Given the description of an element on the screen output the (x, y) to click on. 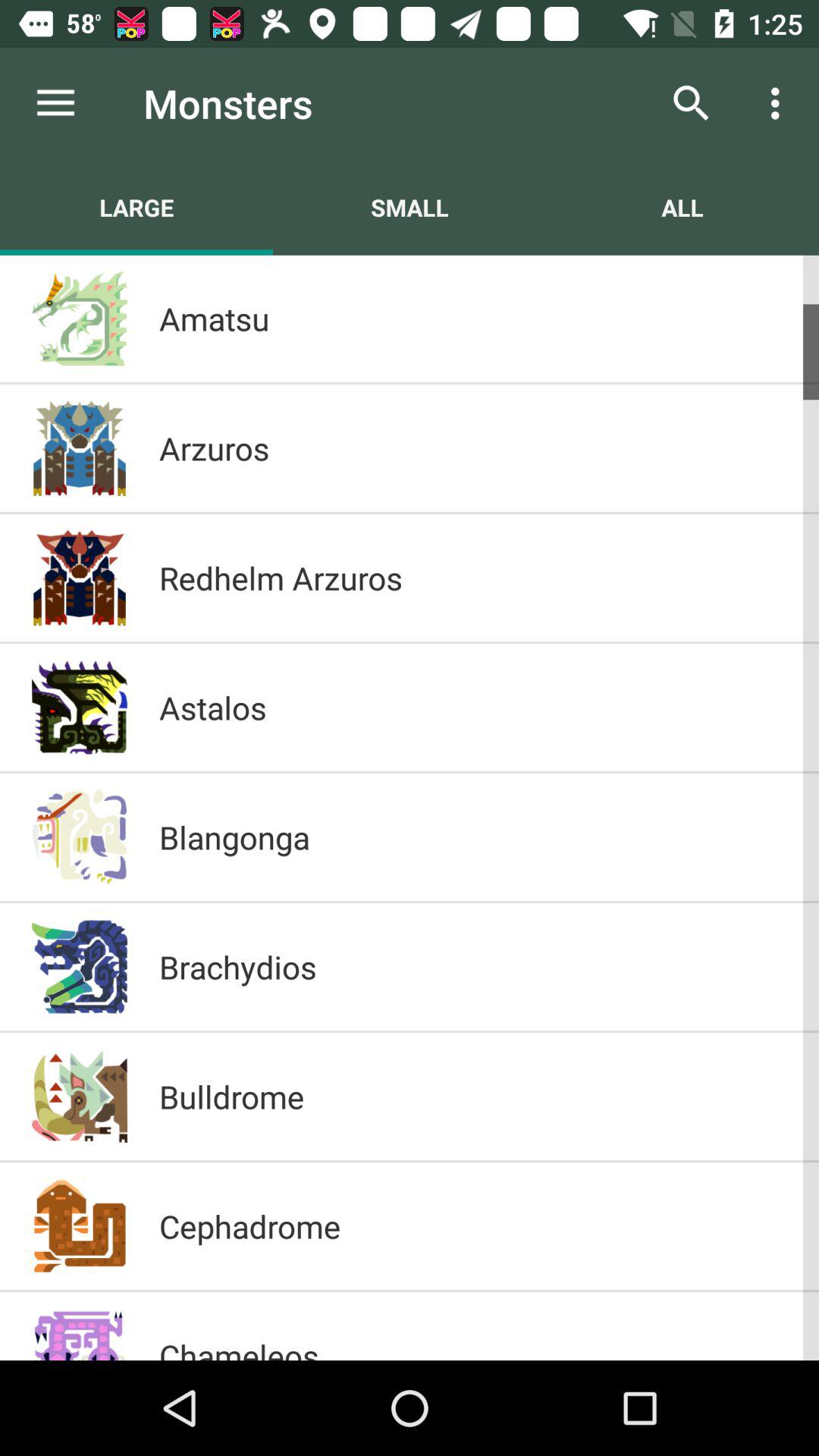
click icon above the all item (779, 103)
